Given the description of an element on the screen output the (x, y) to click on. 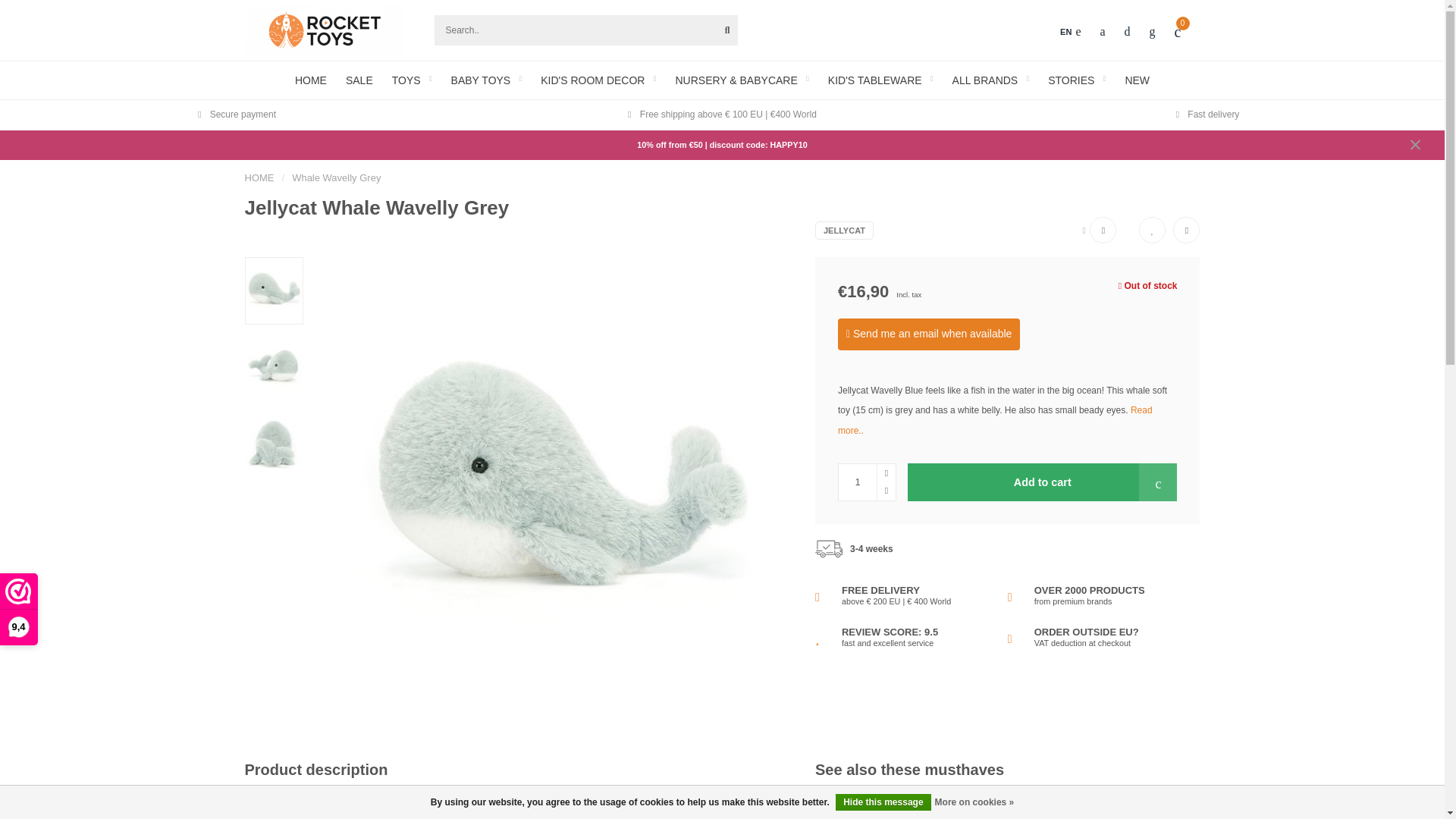
Jellycat Whale Wiley Blue Huge 80 cm (1245, 814)
TOYS (411, 80)
HOME (258, 177)
Jellycat Whale Wavelly Blue (1075, 814)
Jellycat Herman Hermit Crab In Shell Orange 29 cm (905, 814)
EN (1069, 31)
1 (866, 482)
